Given the description of an element on the screen output the (x, y) to click on. 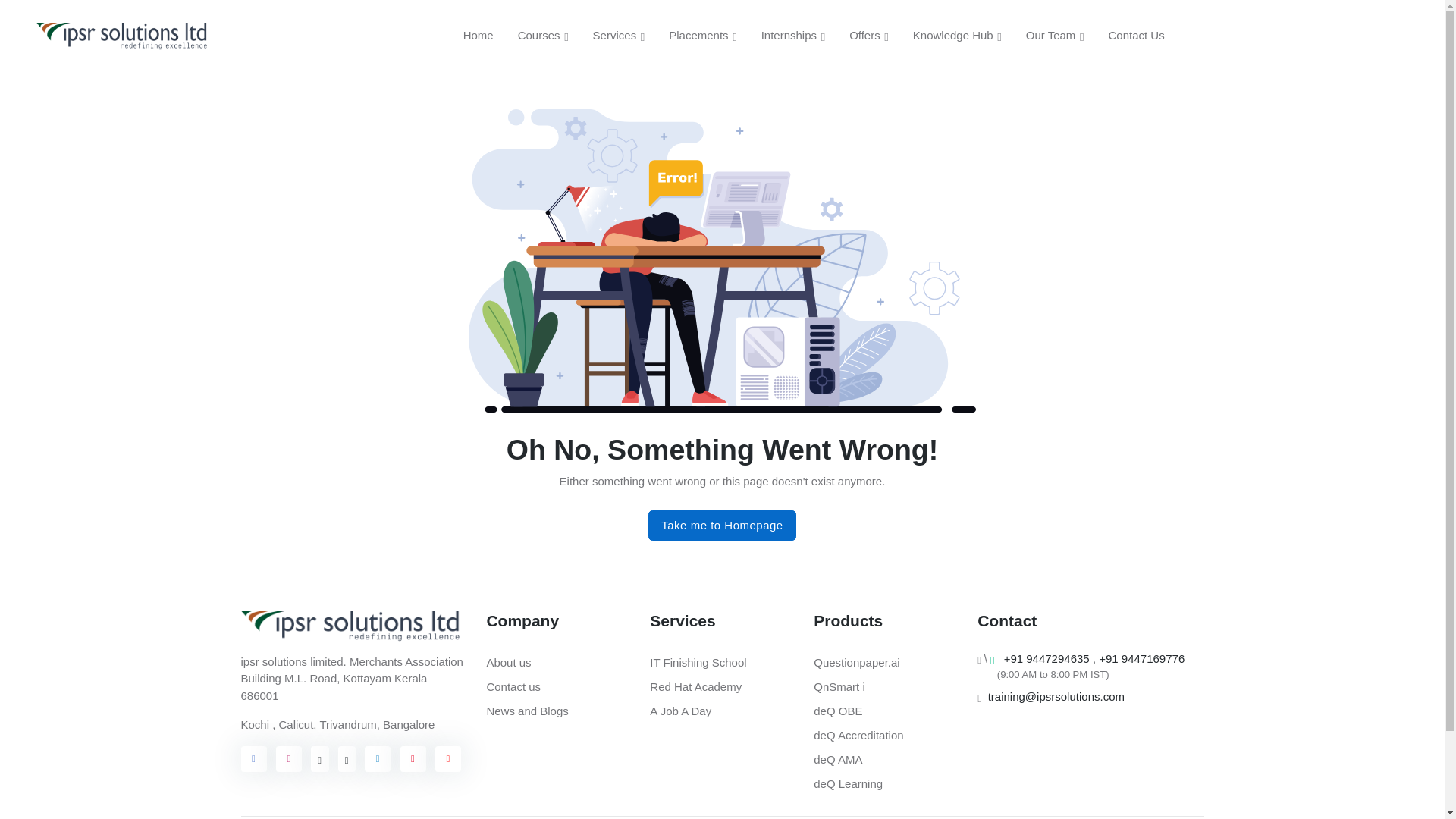
Courses (542, 35)
Home (478, 35)
